Given the description of an element on the screen output the (x, y) to click on. 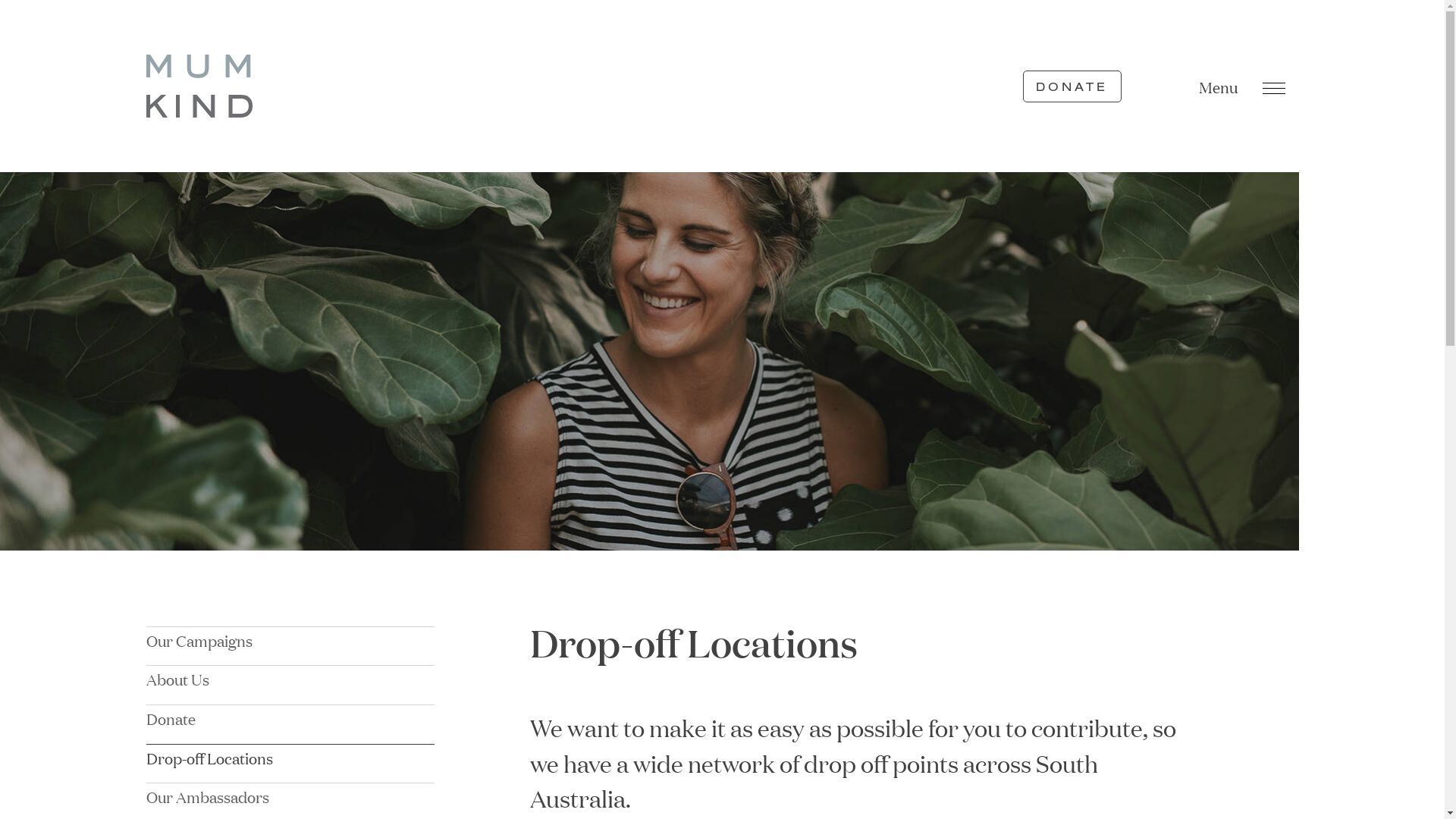
Drop-off Locations Element type: text (289, 757)
Donate Element type: text (289, 717)
Our Ambassadors Element type: text (289, 795)
DONATE Element type: text (1071, 85)
Our Campaigns Element type: text (289, 639)
About Us Element type: text (289, 678)
